Given the description of an element on the screen output the (x, y) to click on. 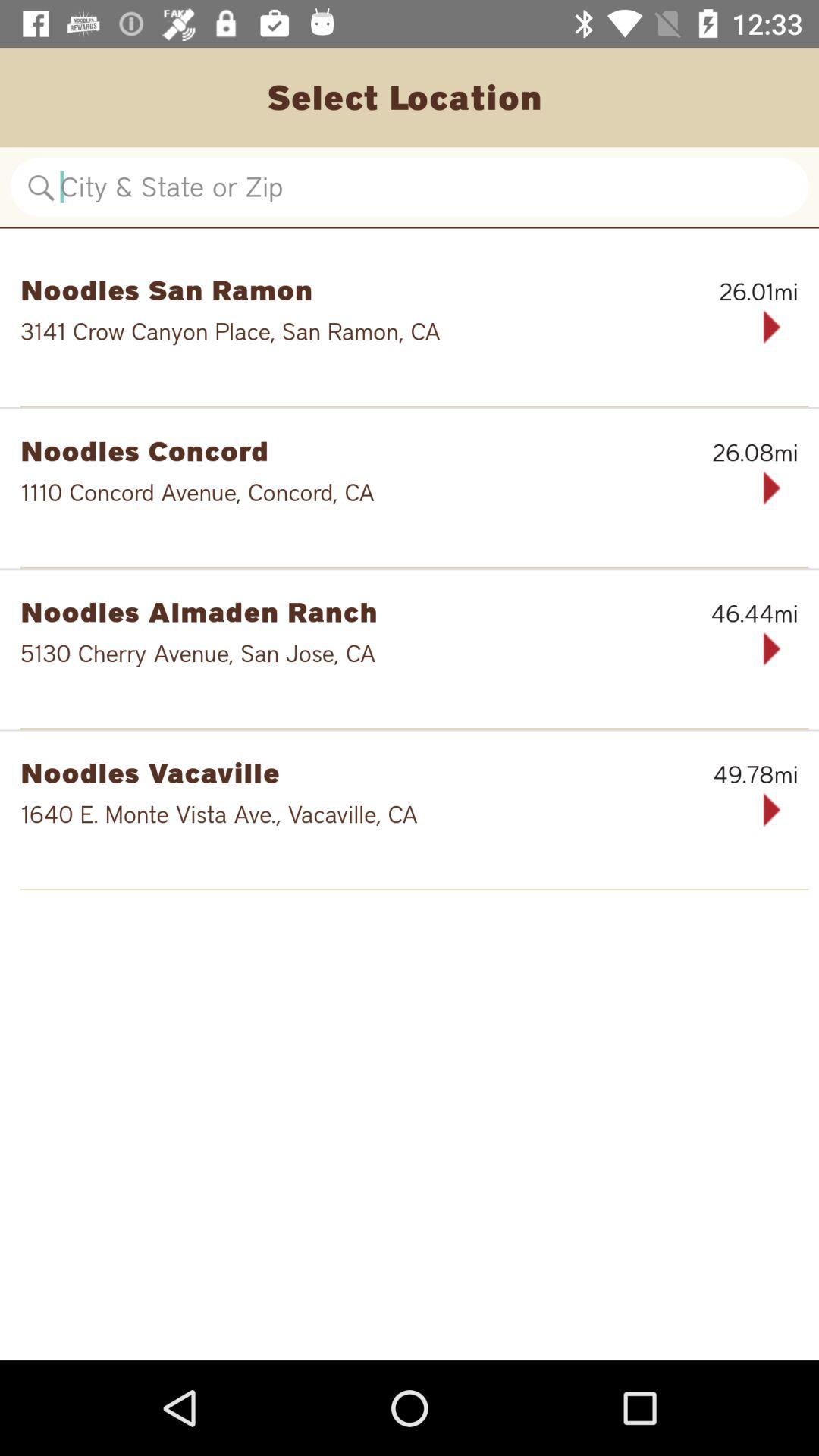
tap the 49.78mi (720, 774)
